Given the description of an element on the screen output the (x, y) to click on. 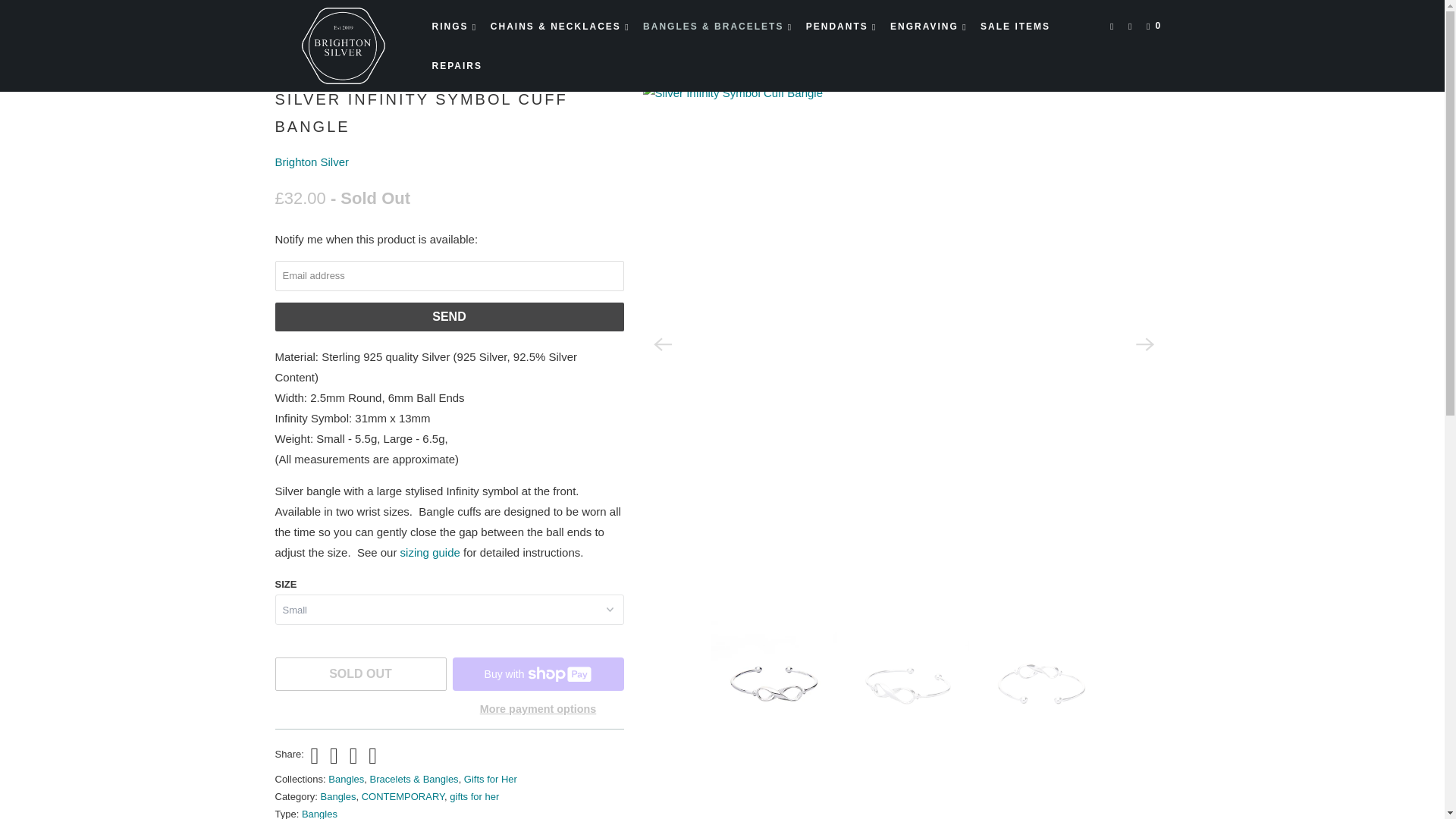
Brighton Silver (342, 45)
Send (449, 316)
Brighton Silver (288, 30)
Brighton Silver (312, 161)
Sizing Guide (430, 552)
Bangles (331, 30)
